Given the description of an element on the screen output the (x, y) to click on. 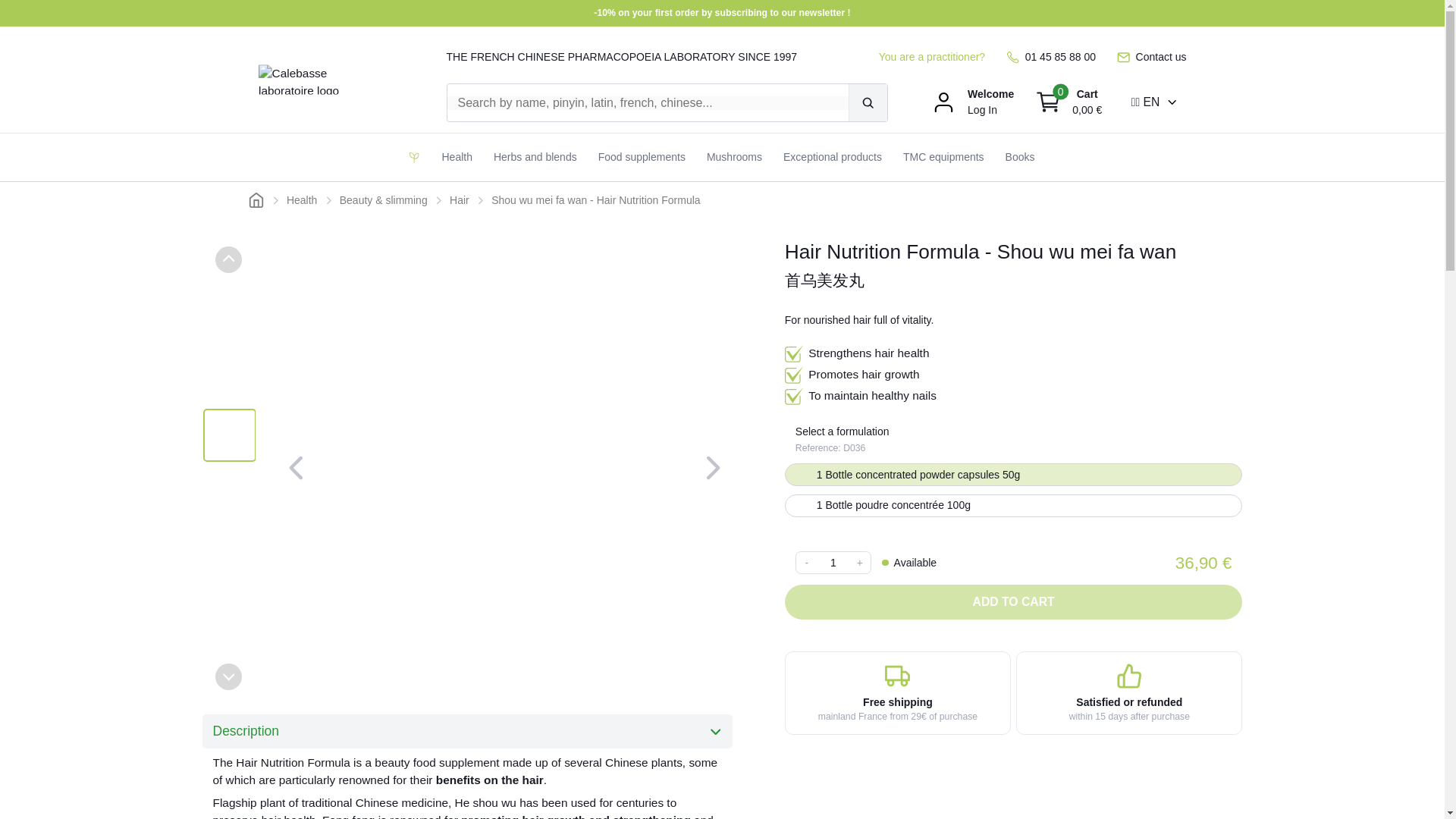
Log In (982, 110)
Health (301, 200)
Books (1019, 157)
1 (832, 562)
Welcome (990, 94)
Herbs and blends (535, 157)
Food supplements (641, 157)
Contact us (1151, 57)
Health (455, 157)
0 (1048, 101)
Exceptional products (832, 157)
You are a practitioner? (932, 57)
01 45 85 88 00 (1051, 57)
TMC equipments (943, 157)
Mushrooms (734, 157)
